Given the description of an element on the screen output the (x, y) to click on. 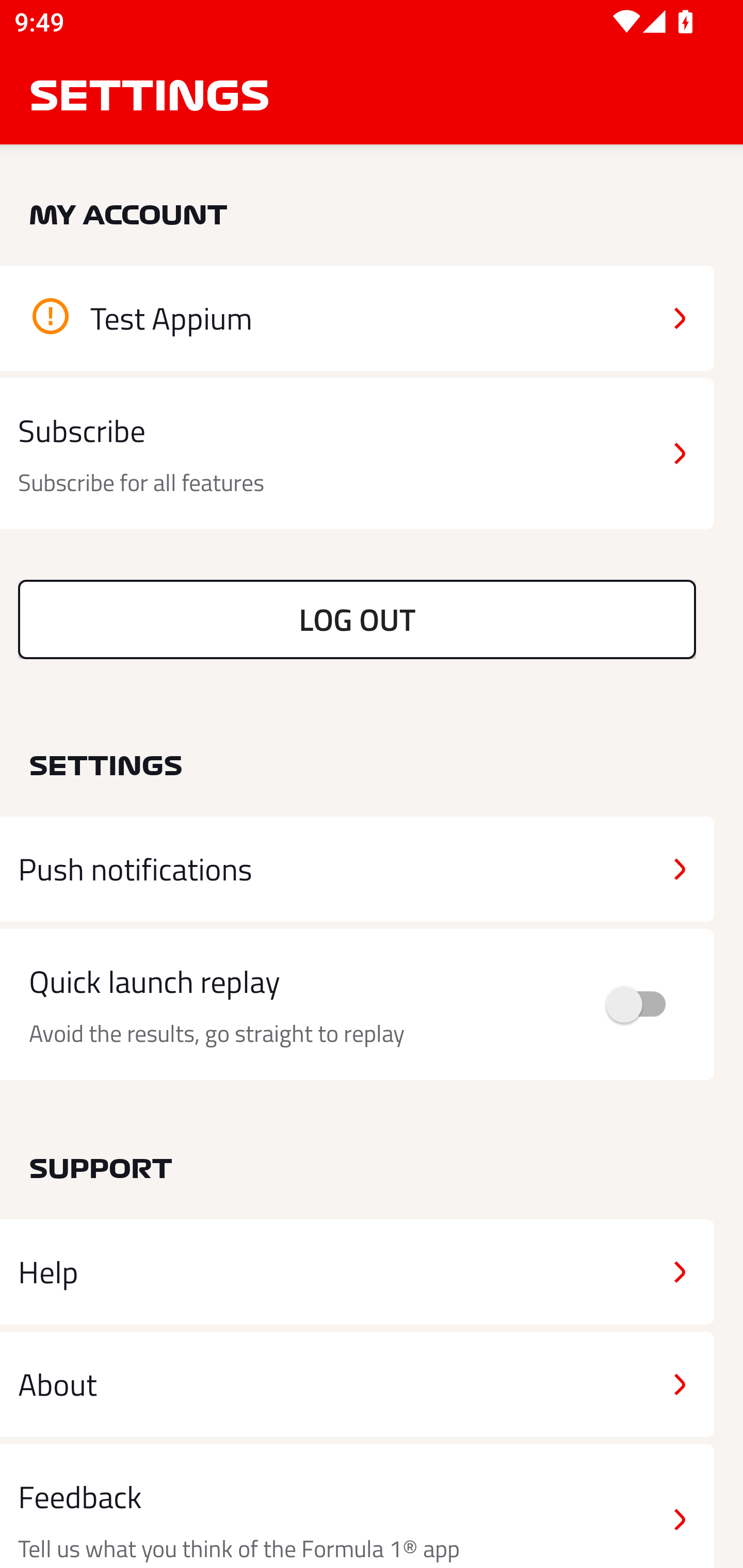
Test Appium (357, 317)
Subscribe Subscribe for all features (357, 453)
LOG OUT (356, 619)
Push notifications (357, 868)
Help (357, 1271)
About (357, 1383)
